Given the description of an element on the screen output the (x, y) to click on. 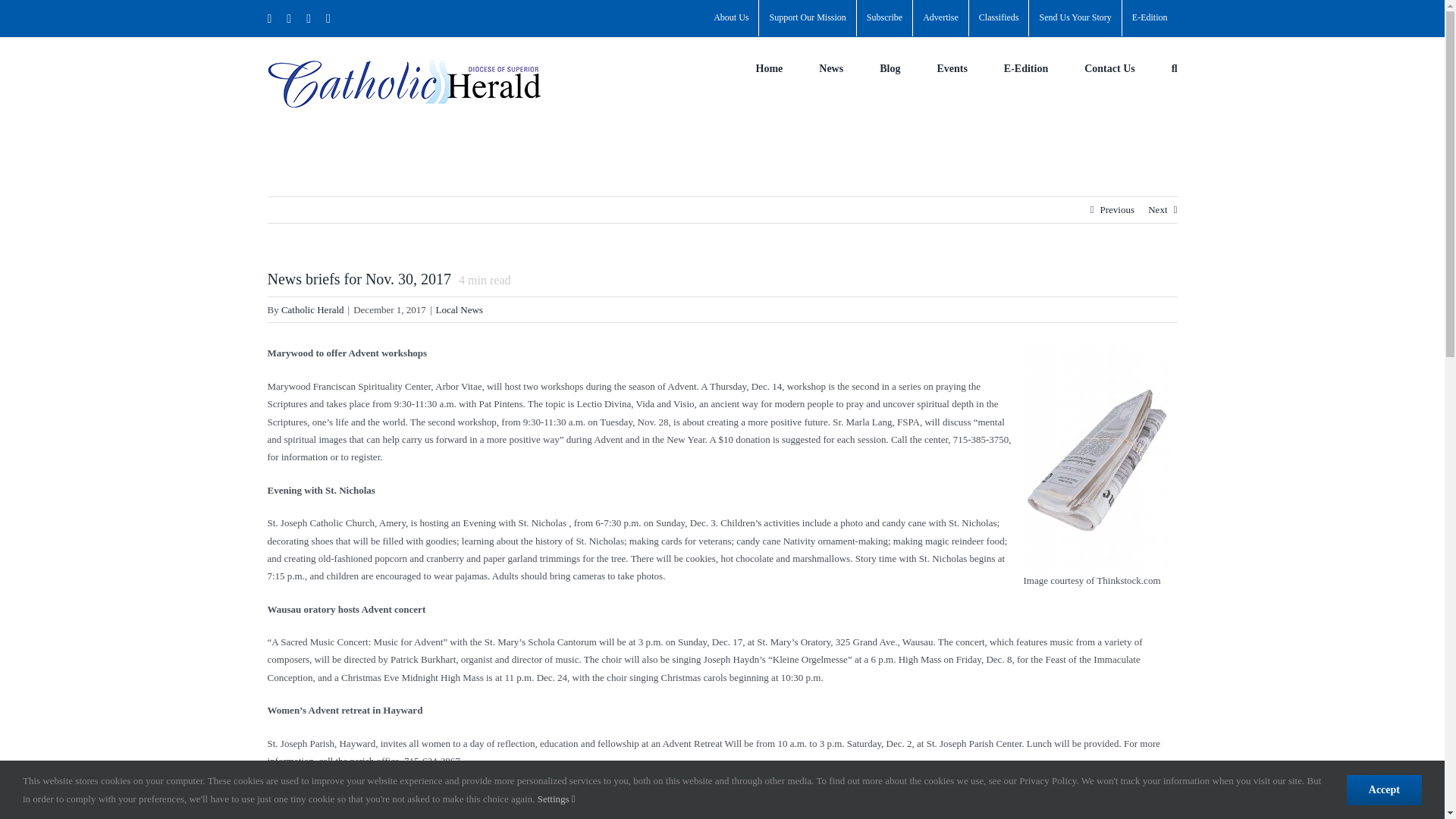
Subscribe (884, 18)
Send Us Your Story (1075, 18)
Posts by Catholic Herald (312, 309)
Classifieds (999, 18)
E-Edition (1149, 18)
Advertise (940, 18)
Support Our Mission (807, 18)
About Us (730, 18)
